Given the description of an element on the screen output the (x, y) to click on. 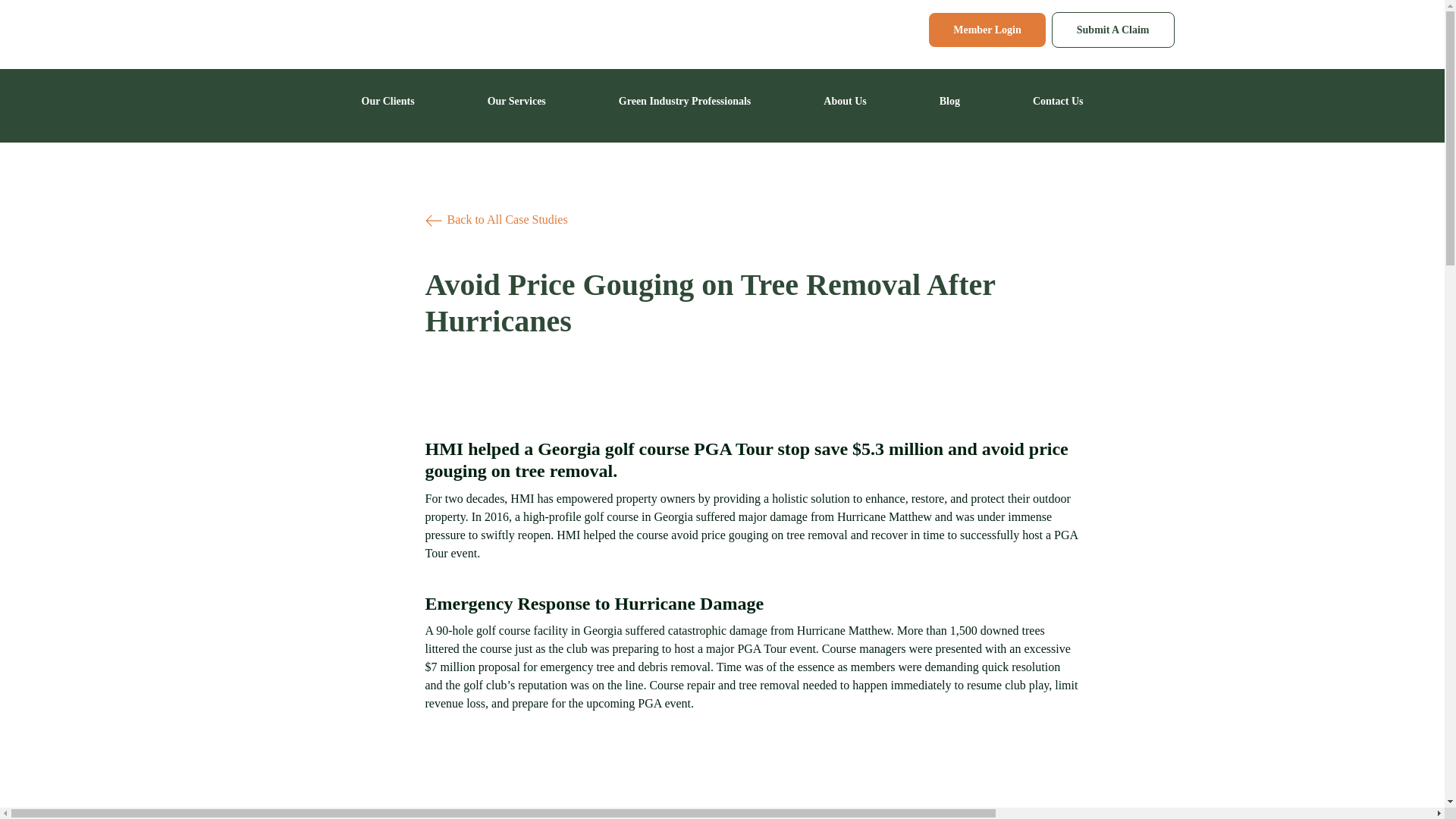
Blog (948, 100)
Contact Us (1057, 100)
Our Clients (387, 100)
Our Services (516, 100)
Green Industry Professionals (684, 100)
Member Login (986, 29)
Submit A Claim (1112, 29)
About Us (844, 100)
